Given the description of an element on the screen output the (x, y) to click on. 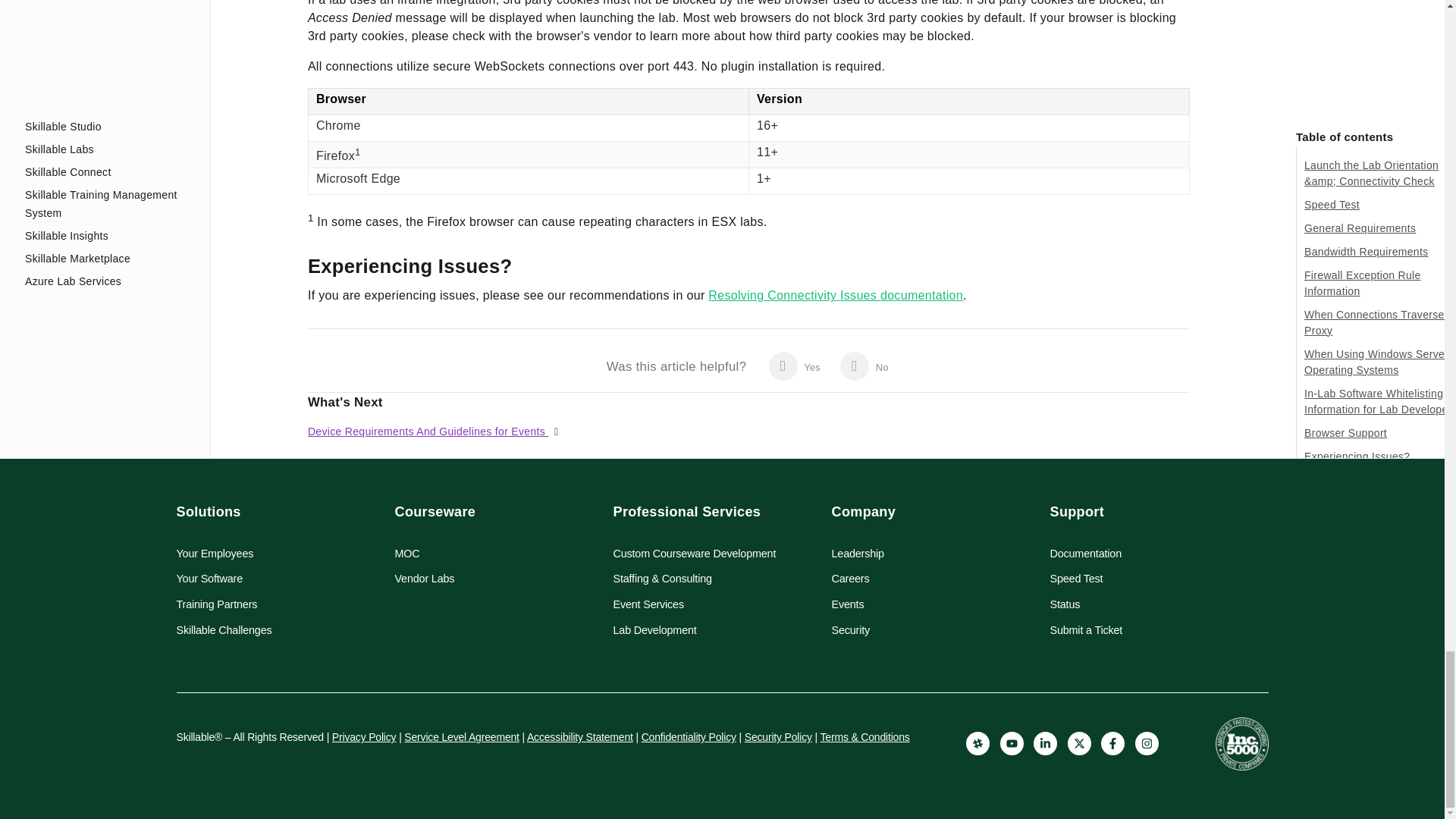
Device Requirements And Guidelines for Events (427, 431)
Yes (794, 366)
No (863, 366)
Resolving Connectivity Issues documentation (834, 295)
